Given the description of an element on the screen output the (x, y) to click on. 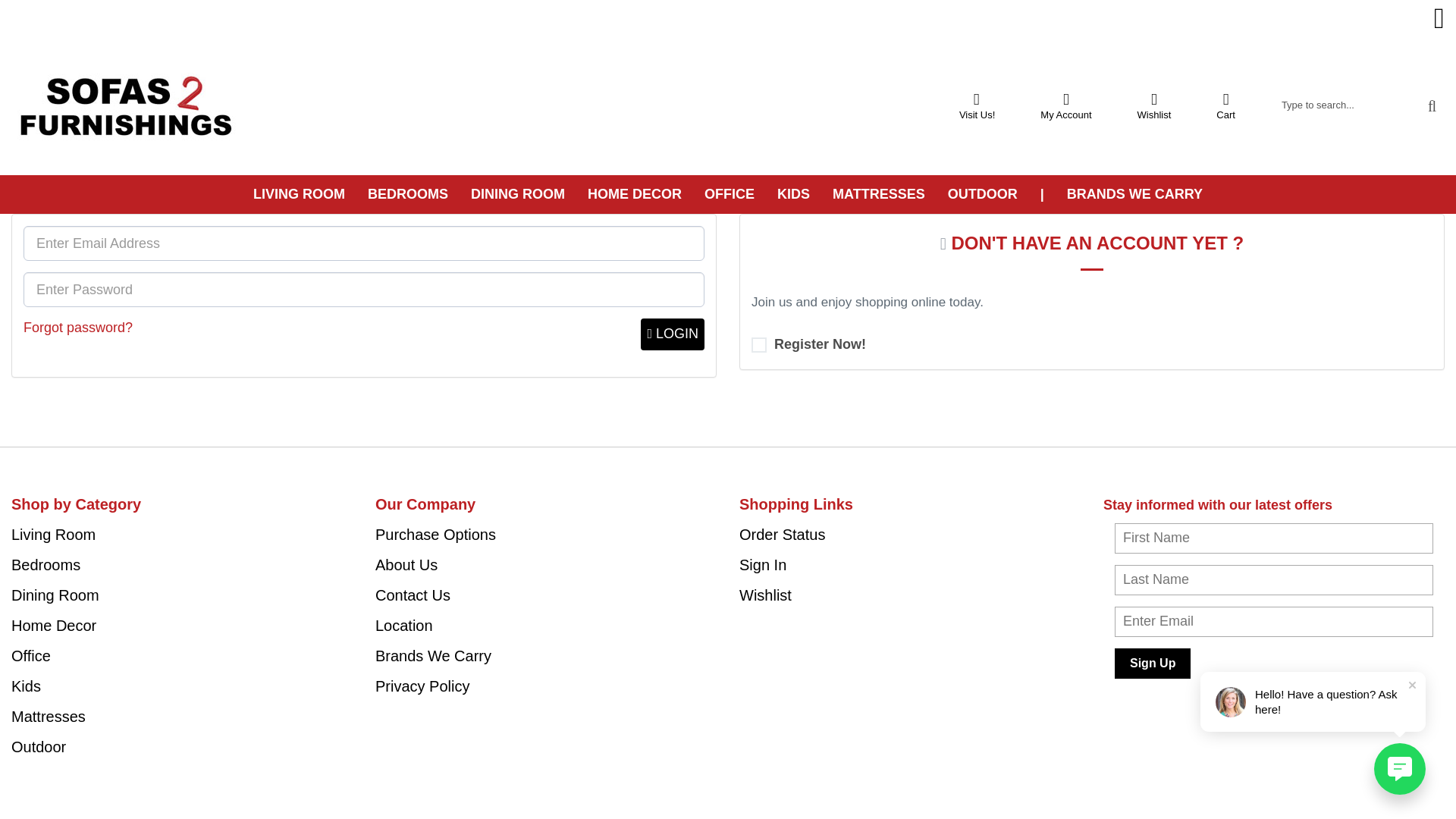
Sofas 2 Furnishings (124, 105)
Visit Us! (975, 105)
LIVING ROOM (298, 194)
favorites (1154, 105)
My Account (1065, 105)
Shoping Cart (1225, 105)
Sign Up (1153, 663)
Wishlist (1154, 105)
Visit Us! (975, 105)
My Account (1065, 105)
Living Room (298, 194)
Cart (1225, 105)
